Given the description of an element on the screen output the (x, y) to click on. 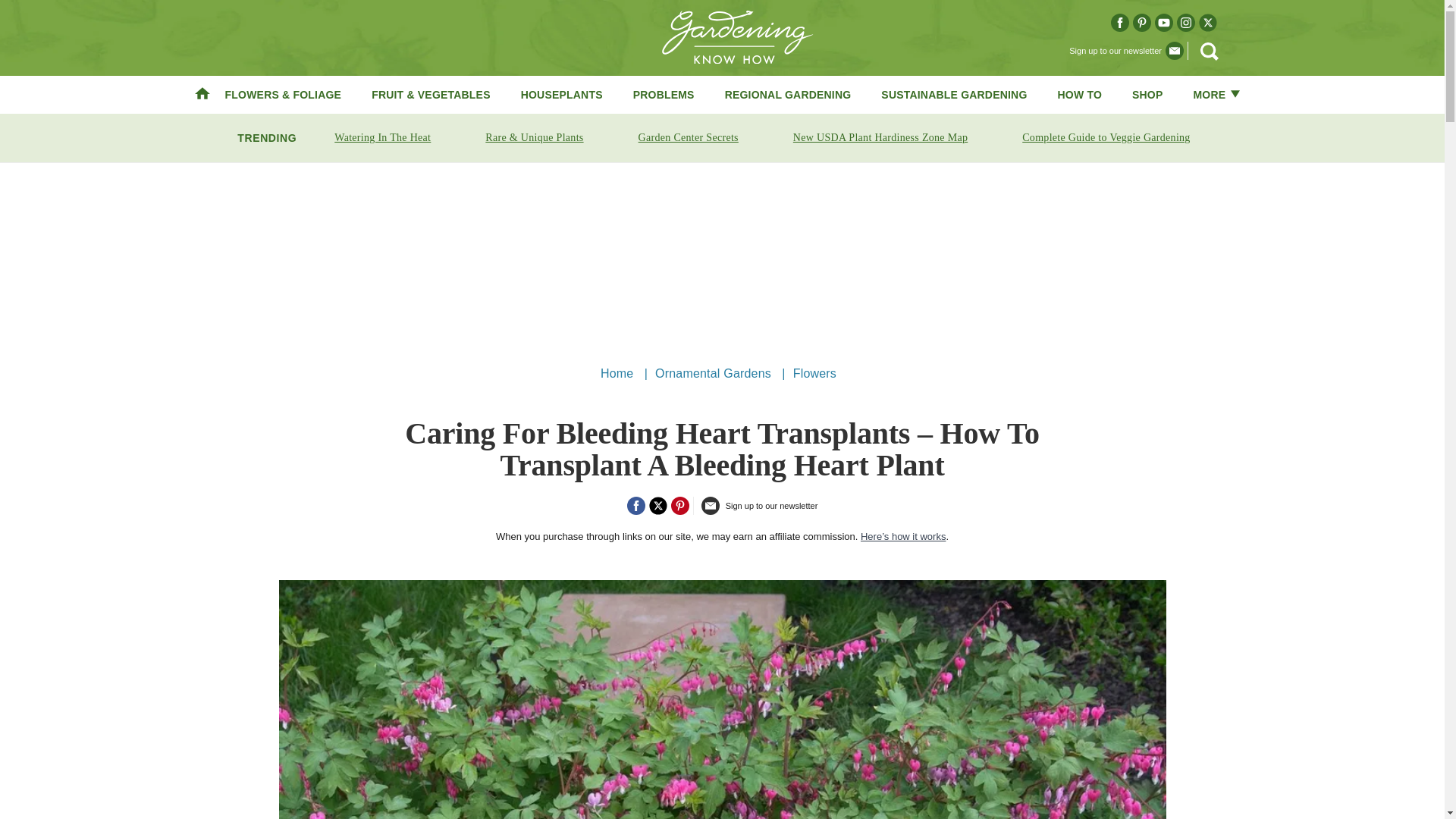
Advertisement (721, 257)
HOW TO (1080, 94)
HOUSEPLANTS (561, 94)
SUSTAINABLE GARDENING (953, 94)
REGIONAL GARDENING (788, 94)
PROBLEMS (663, 94)
